Given the description of an element on the screen output the (x, y) to click on. 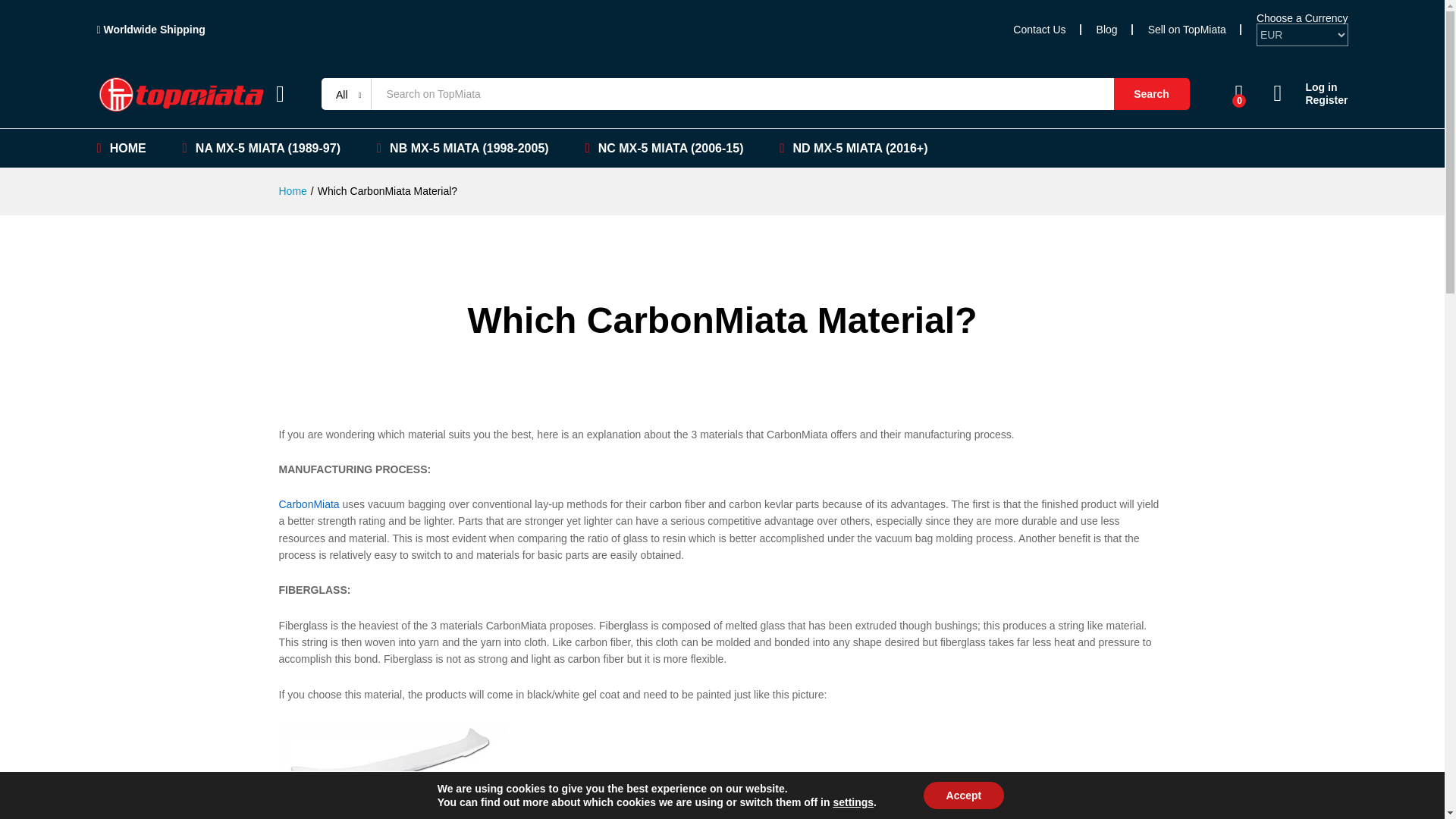
Contact Us (1039, 29)
Sell on TopMiata (1186, 29)
Blog (1107, 29)
